Given the description of an element on the screen output the (x, y) to click on. 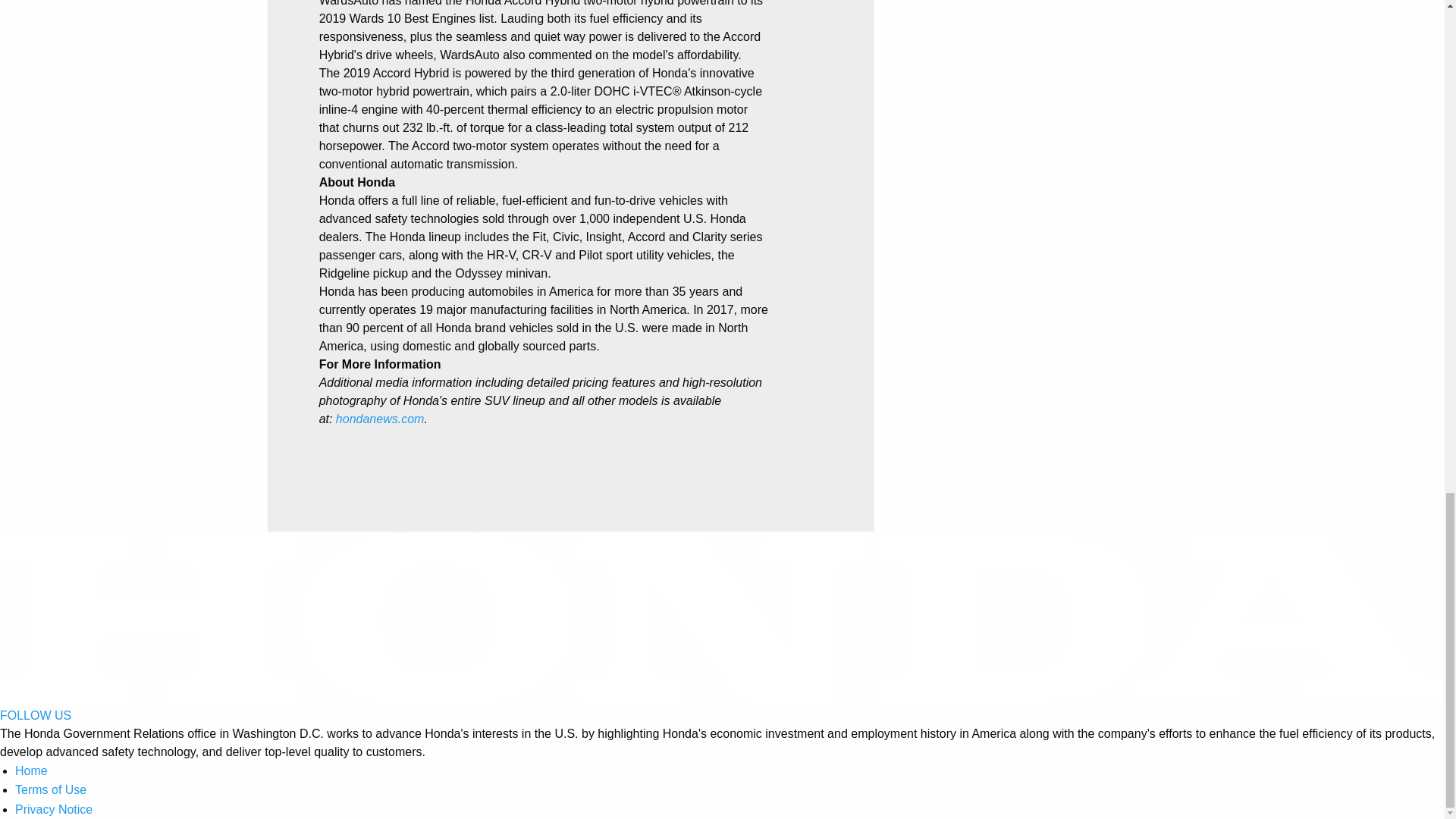
Home (31, 770)
hondanews.com (380, 418)
Terms of Use (49, 789)
FOLLOW US (35, 715)
Privacy Notice (53, 809)
